Given the description of an element on the screen output the (x, y) to click on. 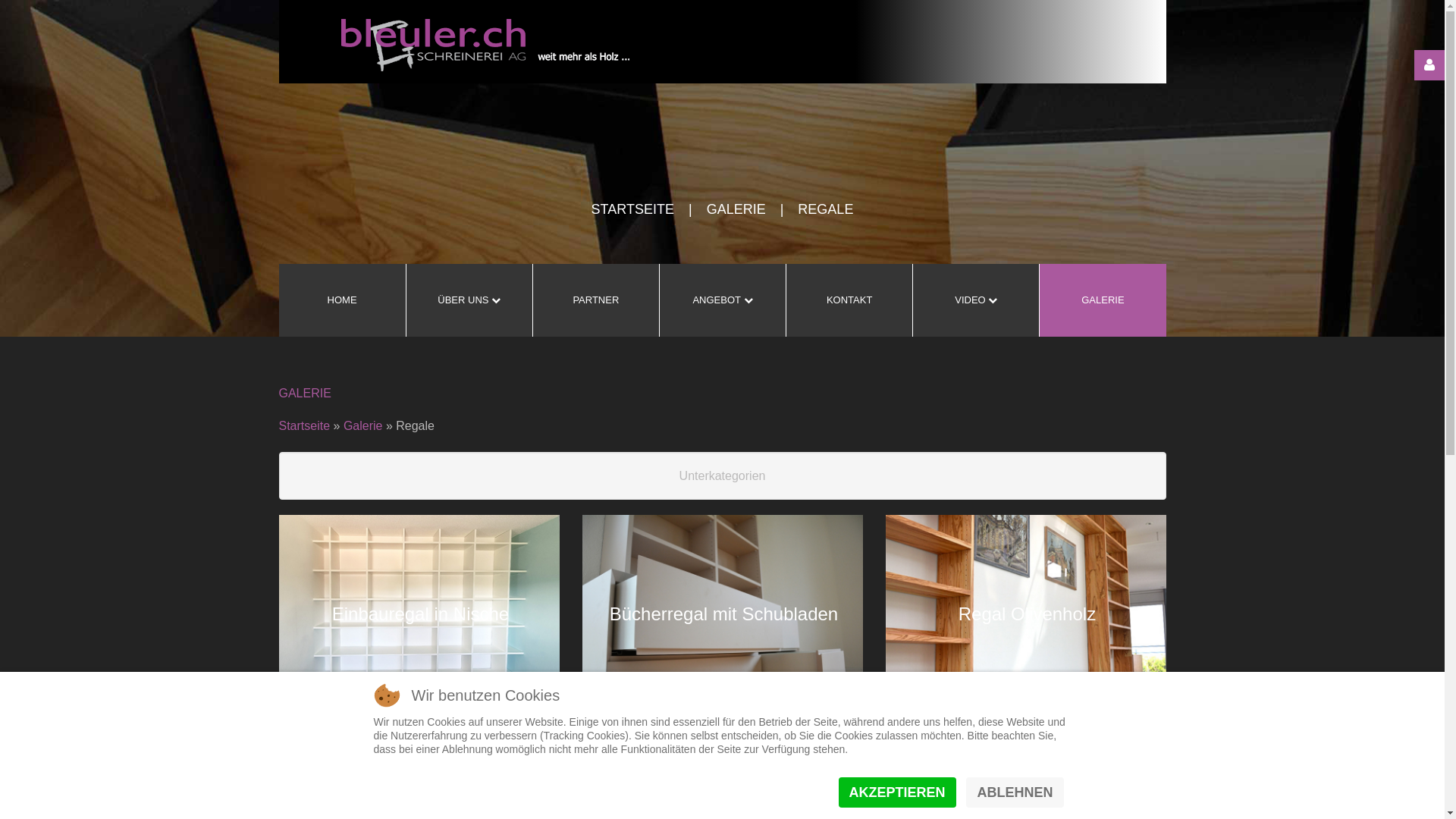
GALERIE Element type: text (1101, 299)
Galerie Element type: text (362, 425)
Einbauregal in Nische Element type: hover (419, 613)
VIDEO Element type: text (975, 299)
HOME Element type: text (342, 299)
Regal Olivenholz Element type: hover (1025, 613)
PARTNER Element type: text (595, 299)
Regal Olivenholz Element type: text (1026, 613)
Einbauregal in Nische Element type: text (420, 613)
GALERIE Element type: text (735, 208)
AKZEPTIEREN Element type: text (897, 792)
ABLEHNEN Element type: text (1014, 792)
STARTSEITE Element type: text (632, 208)
Startseite Element type: text (304, 425)
KONTAKT Element type: text (848, 299)
ANGEBOT Element type: text (721, 299)
